Given the description of an element on the screen output the (x, y) to click on. 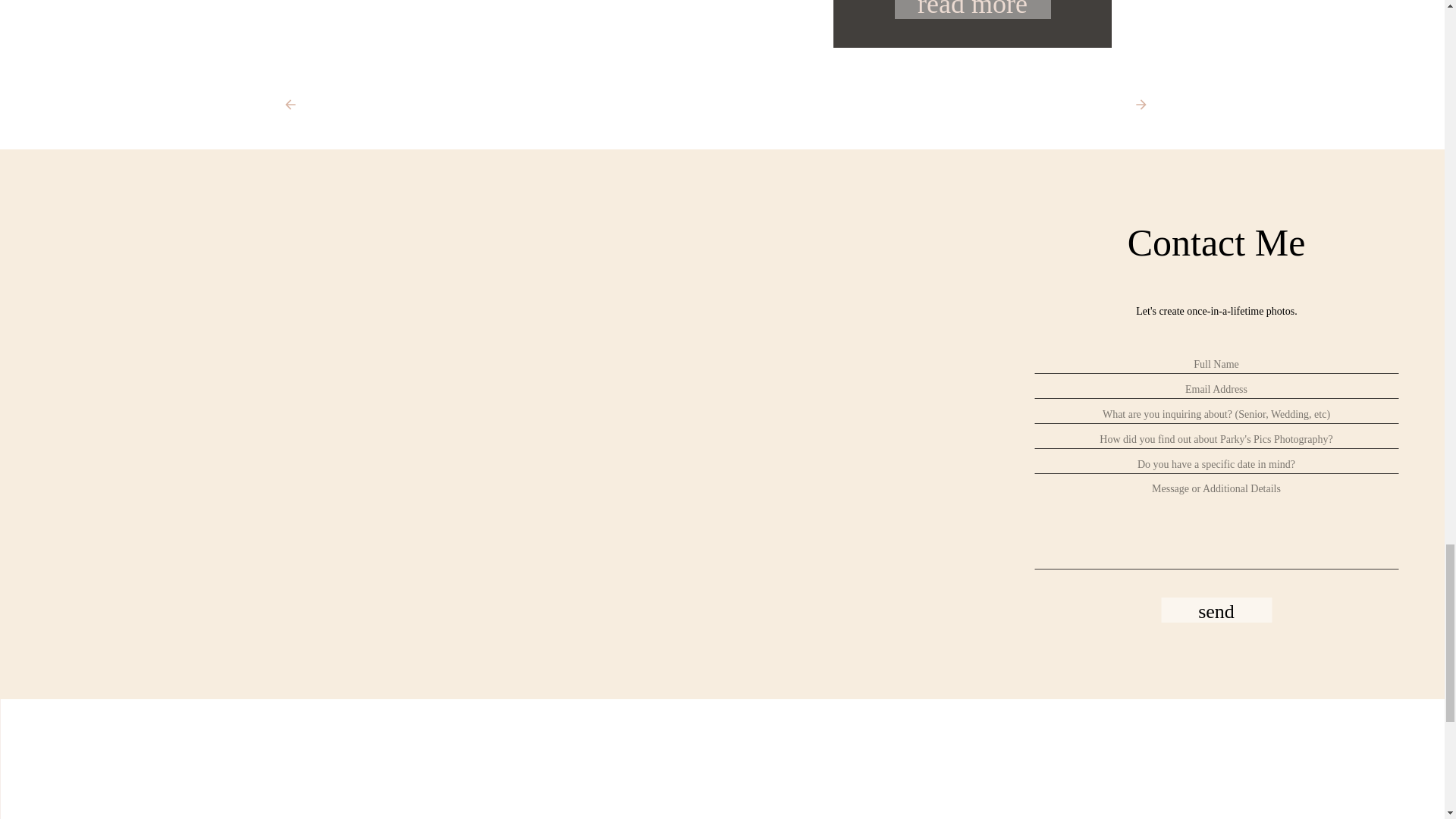
read more (973, 18)
Andrew-Senior Session-Ferndale High School Football Field (973, 9)
Andrew-Senior Session-Ferndale High School Football Field (973, 18)
send (1216, 610)
Andrew-Senior Session-Ferndale High School Football Field (583, 23)
